Given the description of an element on the screen output the (x, y) to click on. 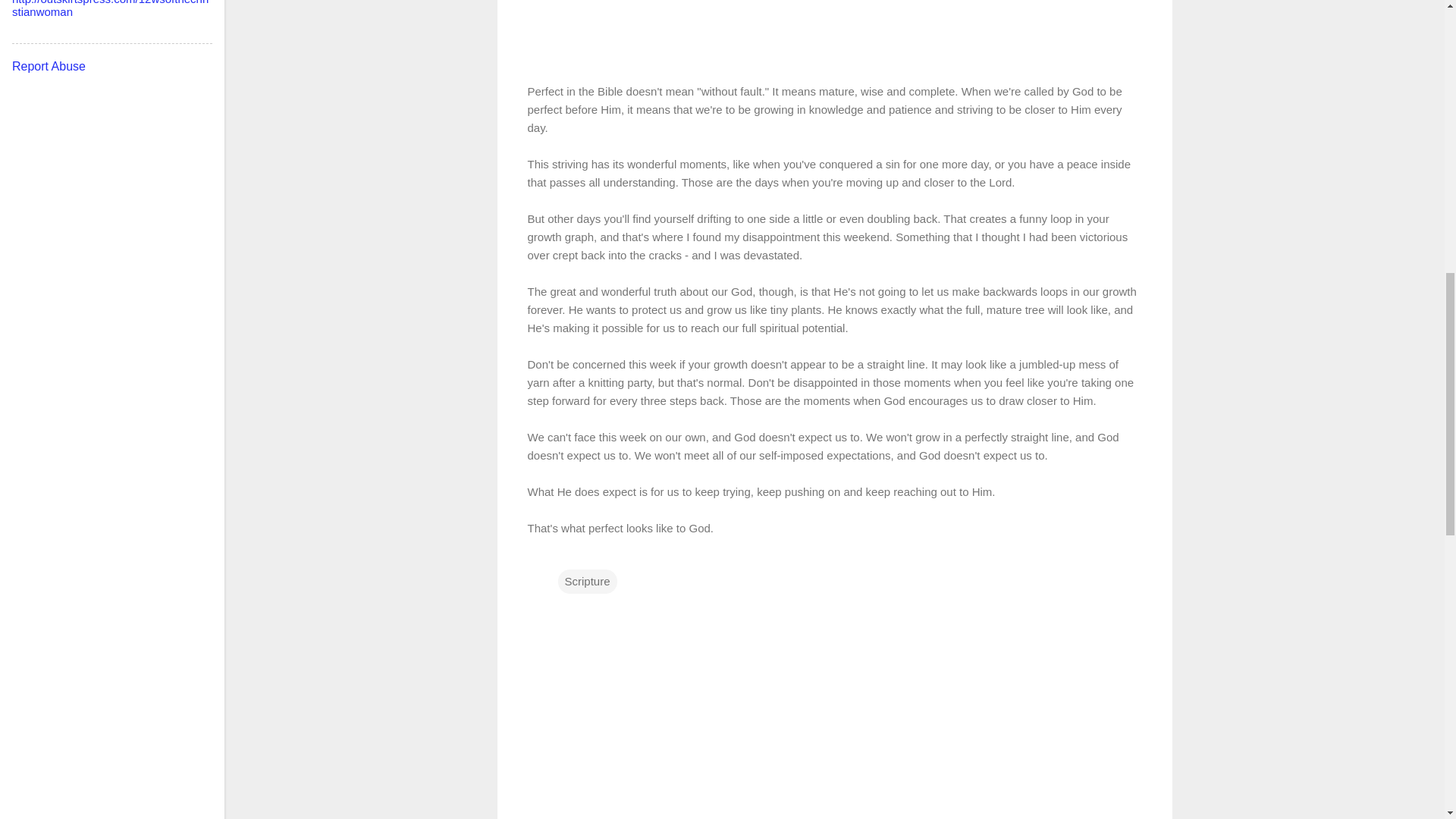
Scripture (587, 580)
